Given the description of an element on the screen output the (x, y) to click on. 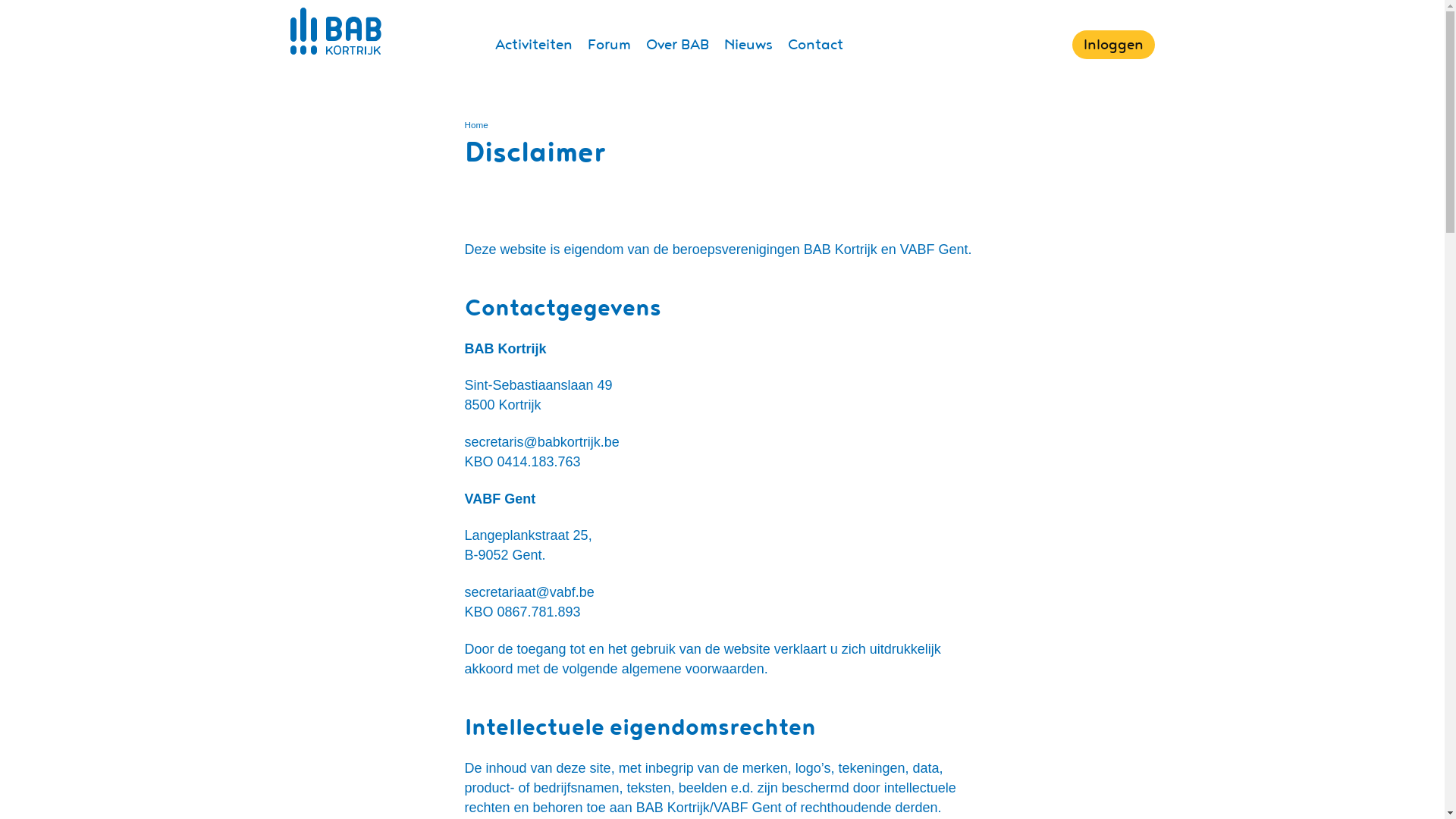
Contact Element type: text (814, 44)
Inloggen Element type: text (1113, 44)
Activiteiten Element type: text (532, 44)
Forum Element type: text (608, 44)
Home Element type: text (475, 124)
Overslaan en naar de inhoud gaan Element type: text (0, 0)
Over BAB Element type: text (677, 44)
Nieuws Element type: text (747, 44)
